Given the description of an element on the screen output the (x, y) to click on. 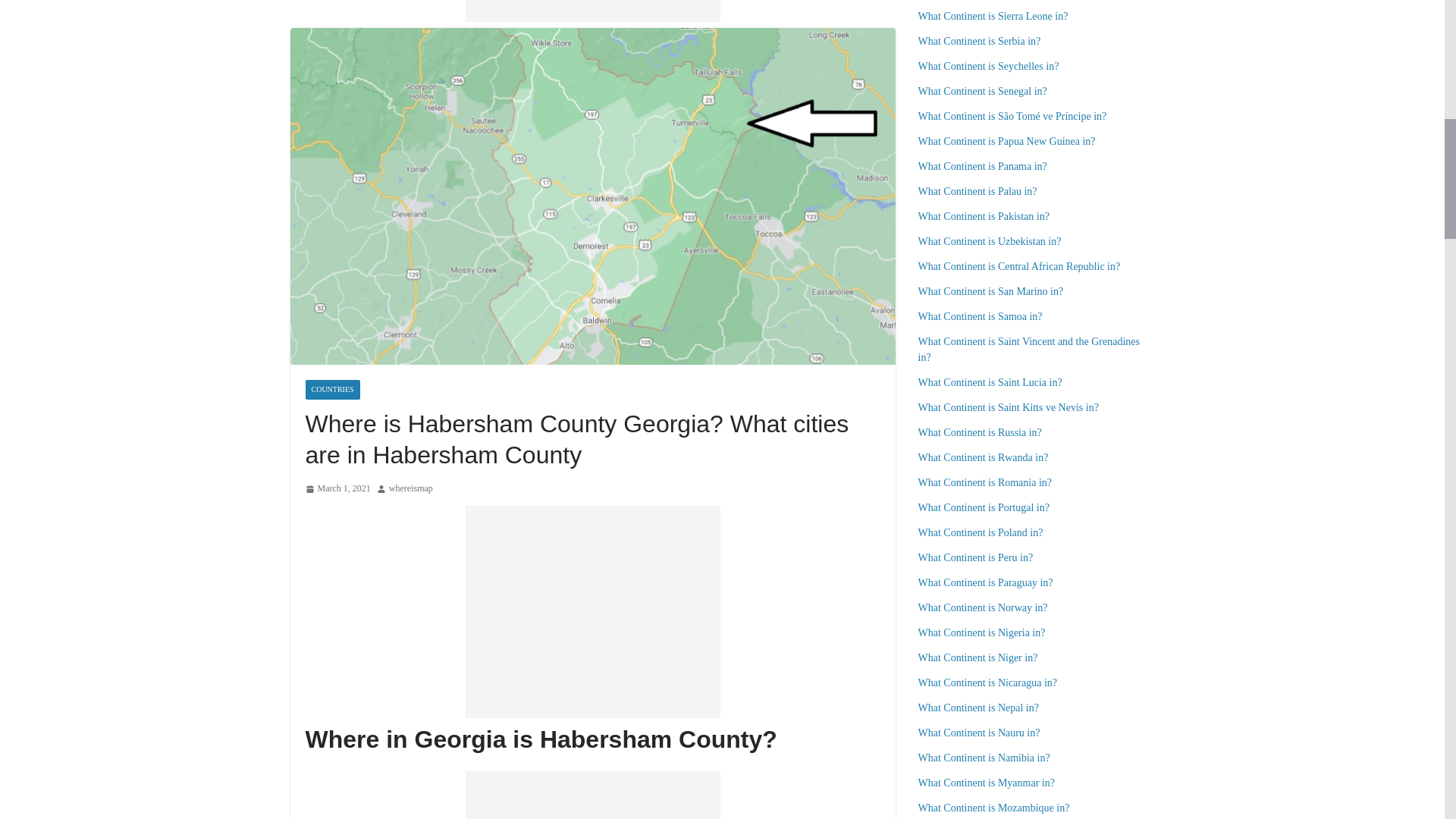
What Continent is Senegal in? (981, 91)
whereismap (410, 488)
What Continent is Papua New Guinea in? (1005, 141)
What Continent is Uzbekistan in? (989, 241)
whereismap (410, 488)
What Continent is Sierra Leone in? (992, 16)
What Continent is Palau in? (976, 191)
What Continent is Panama in? (981, 165)
What Continent is Serbia in? (979, 41)
5:23 am (336, 488)
What Continent is Samoa in? (979, 316)
March 1, 2021 (336, 488)
What Continent is San Marino in? (989, 291)
What Continent is Pakistan in? (982, 215)
What Continent is Seychelles in? (987, 66)
